Given the description of an element on the screen output the (x, y) to click on. 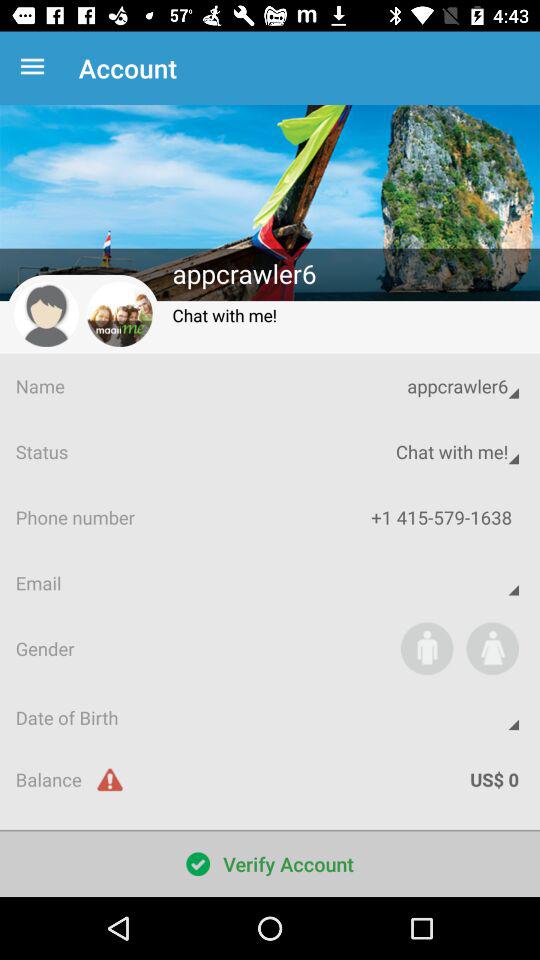
turn on icon below the email item (426, 648)
